Given the description of an element on the screen output the (x, y) to click on. 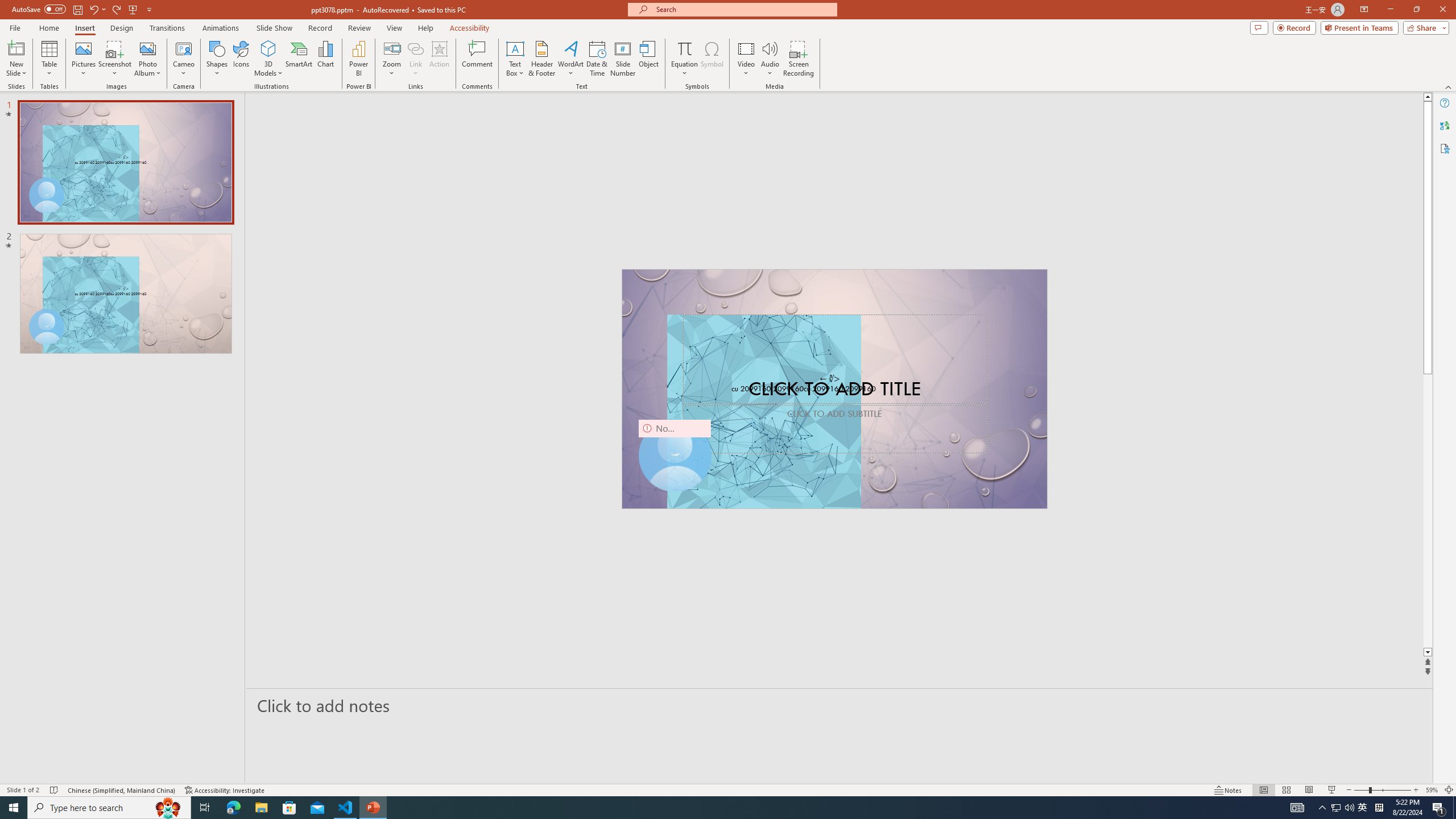
Video (745, 58)
Symbol... (711, 58)
Slide Number (622, 58)
Link (415, 58)
TextBox 7 (829, 378)
